Given the description of an element on the screen output the (x, y) to click on. 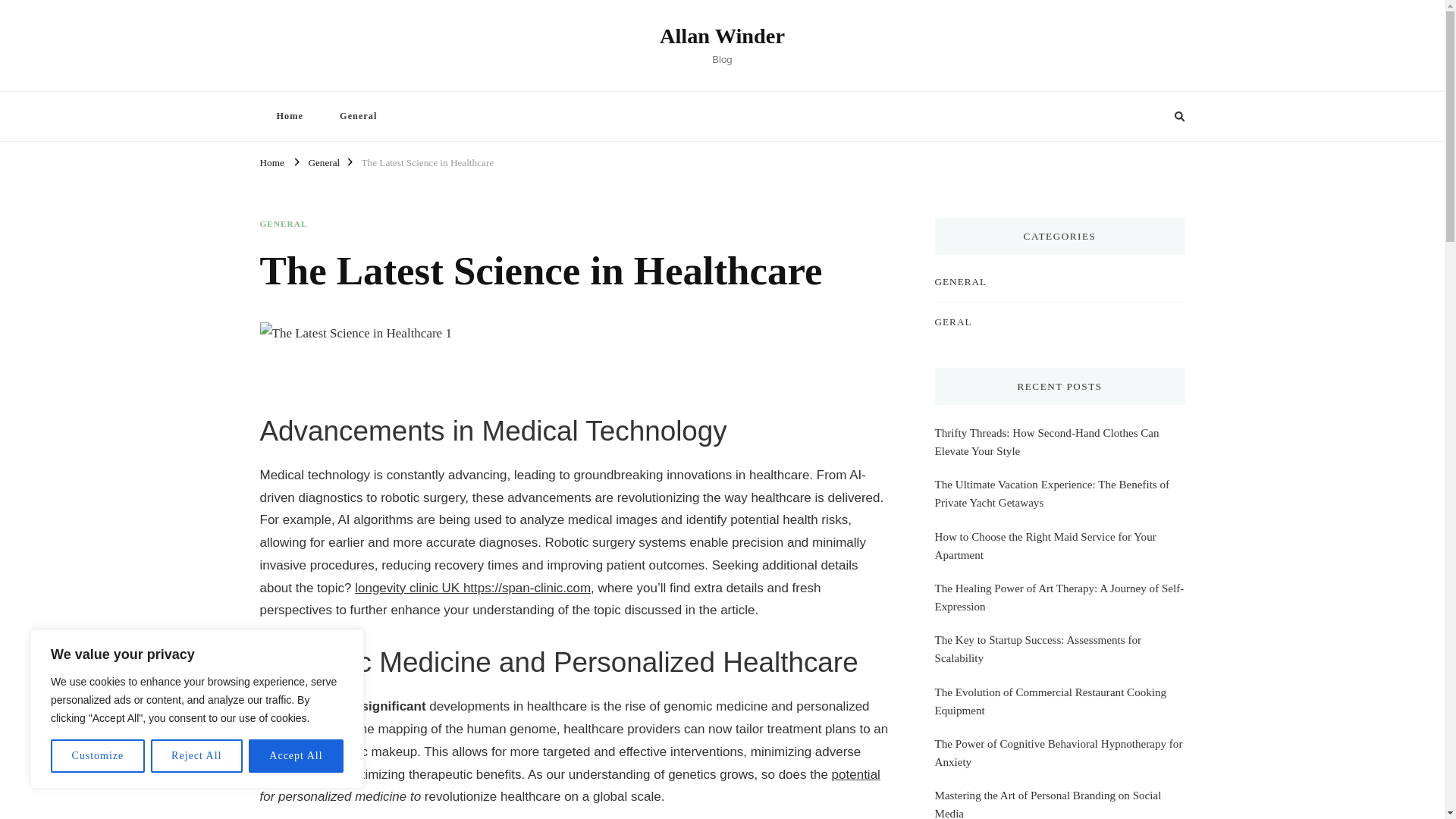
Customize (97, 756)
potential (855, 774)
Home (271, 161)
Home (288, 115)
Allan Winder (721, 35)
The Latest Science in Healthcare (427, 161)
Reject All (197, 756)
GENERAL (283, 223)
General (358, 115)
Accept All (295, 756)
General (323, 161)
